Given the description of an element on the screen output the (x, y) to click on. 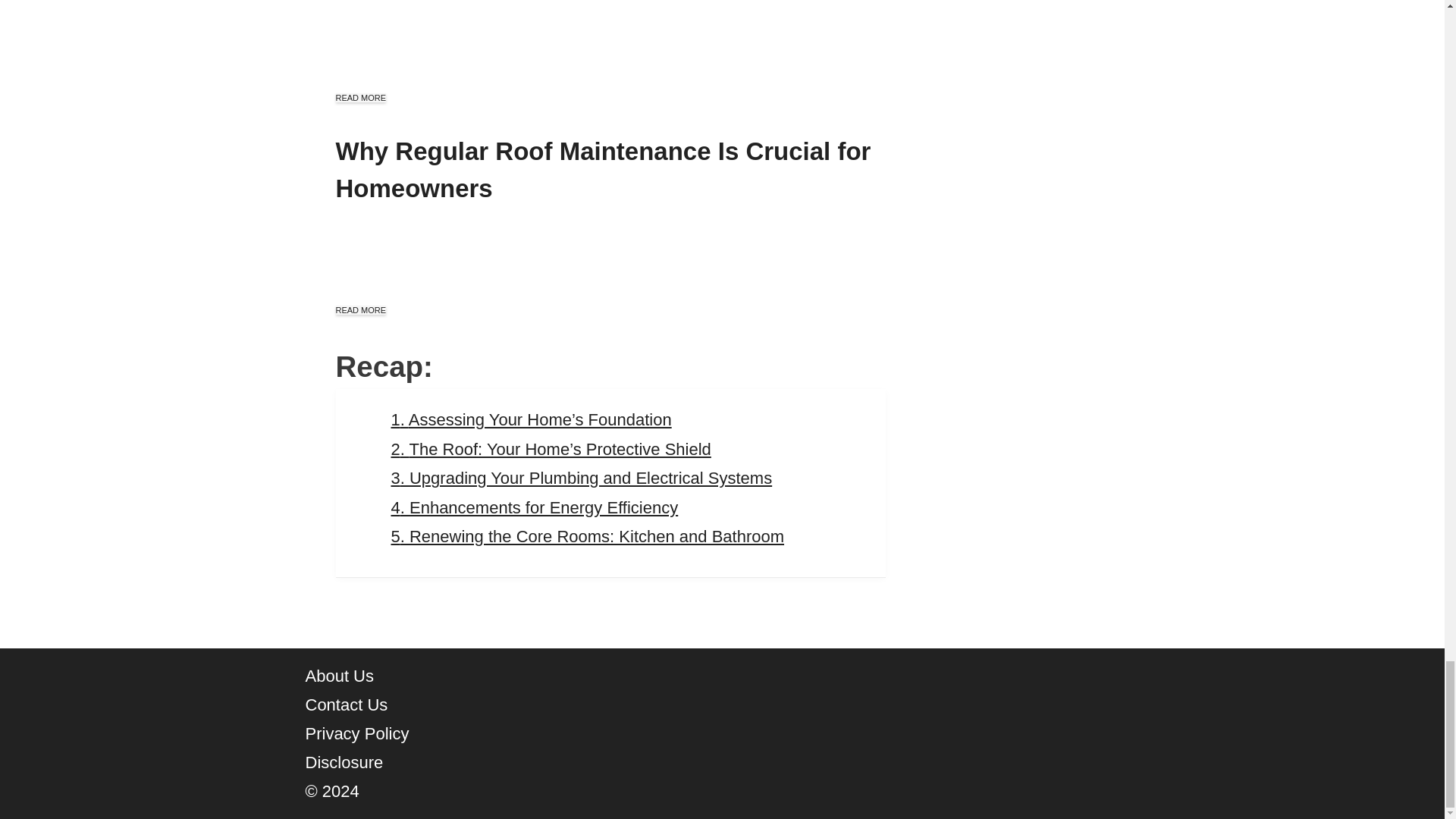
READ MORE (359, 97)
Renewing the Core Rooms: Kitchen and Bathroom (587, 536)
Enhancements for Energy Efficiency (534, 506)
Why Regular Roof Maintenance Is Crucial for Homeowners (602, 170)
Upgrading Your Plumbing and Electrical Systems (582, 477)
READ MORE (359, 309)
Why Regular Roof Maintenance Is Crucial for Homeowners (602, 170)
